Given the description of an element on the screen output the (x, y) to click on. 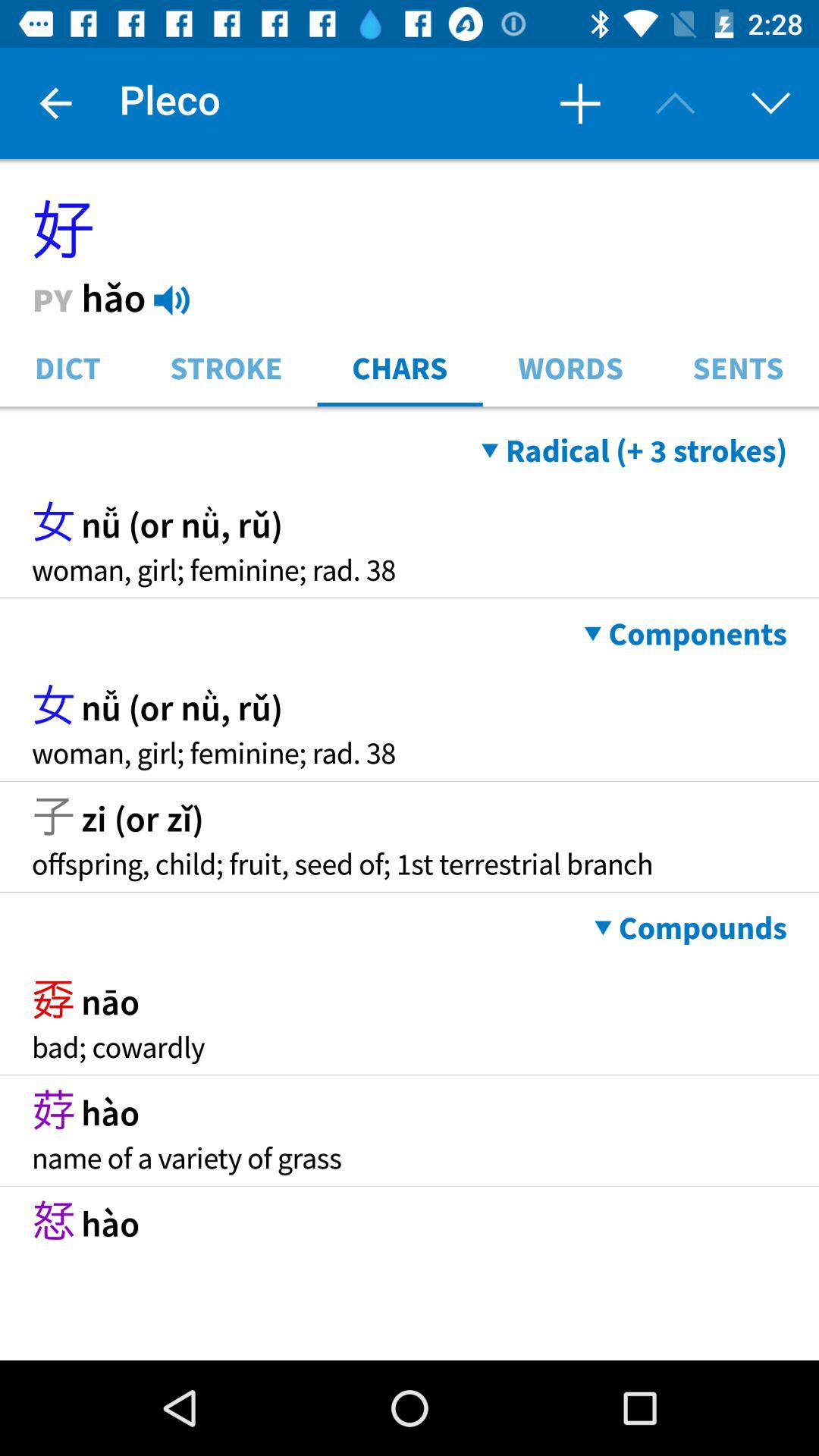
launch the icon to the right of the pleco (579, 103)
